Given the description of an element on the screen output the (x, y) to click on. 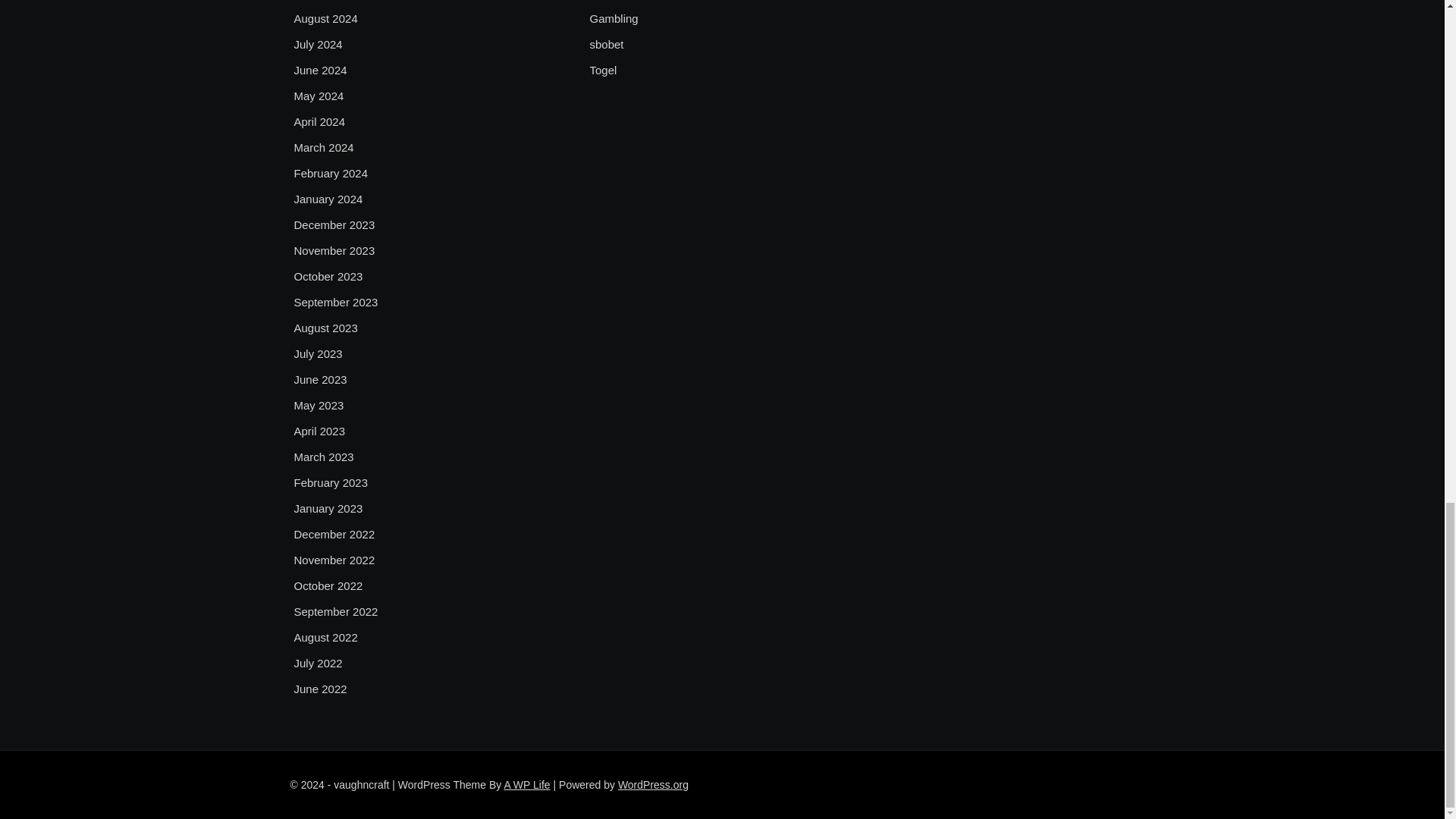
January 2023 (328, 508)
November 2023 (334, 250)
April 2023 (320, 431)
February 2023 (331, 483)
July 2024 (318, 45)
June 2023 (320, 380)
December 2023 (334, 225)
February 2024 (331, 173)
May 2024 (318, 95)
January 2024 (328, 199)
